Given the description of an element on the screen output the (x, y) to click on. 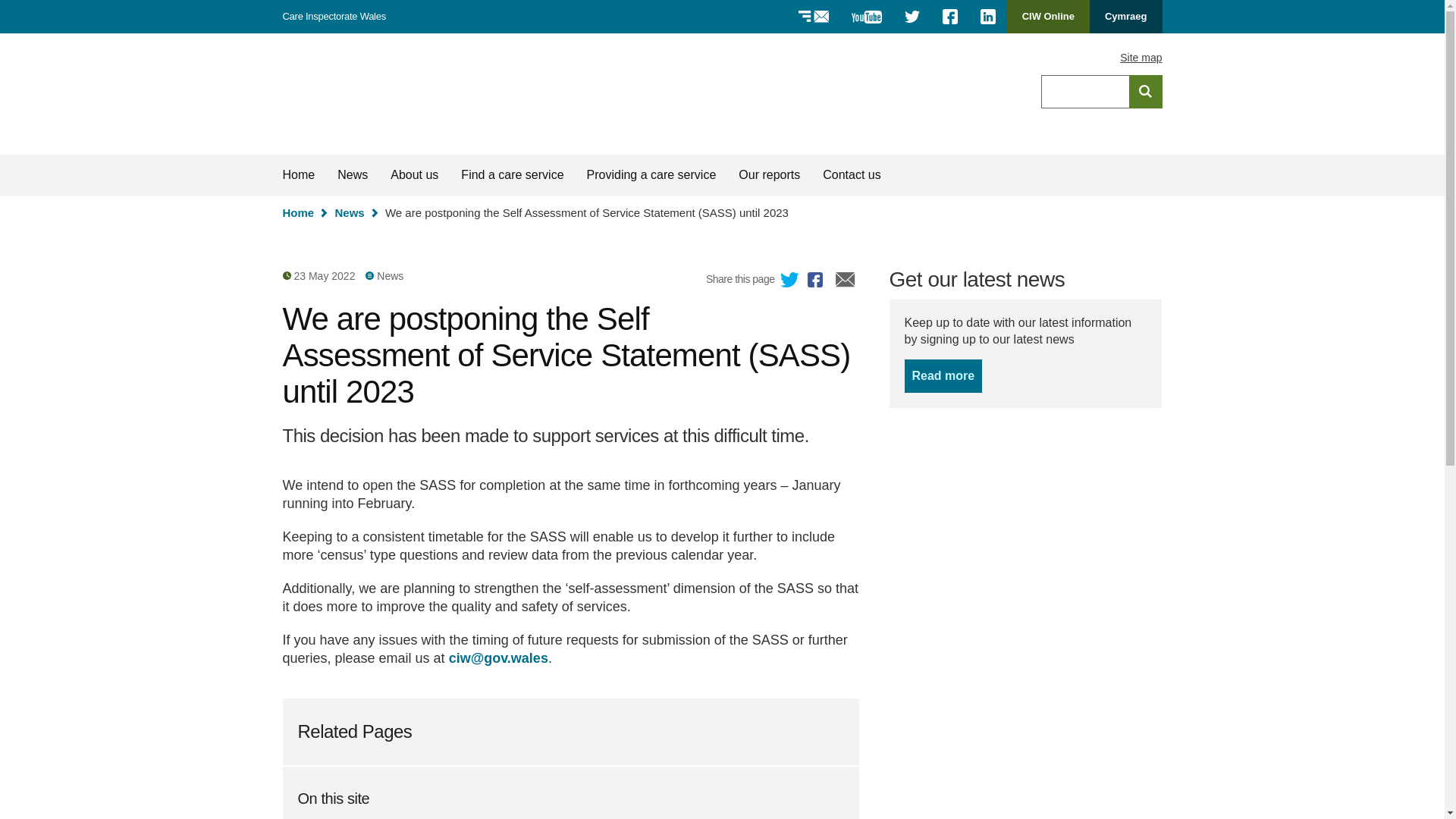
Our reports (768, 174)
Site map (942, 376)
Home (1140, 57)
Home (367, 93)
Providing a care service (298, 212)
Search website (651, 174)
Cymraeg (1144, 91)
Linkedin (1125, 16)
Twitter (988, 16)
Email (789, 281)
Facebook (845, 281)
Home (950, 16)
Home (1048, 16)
